Given the description of an element on the screen output the (x, y) to click on. 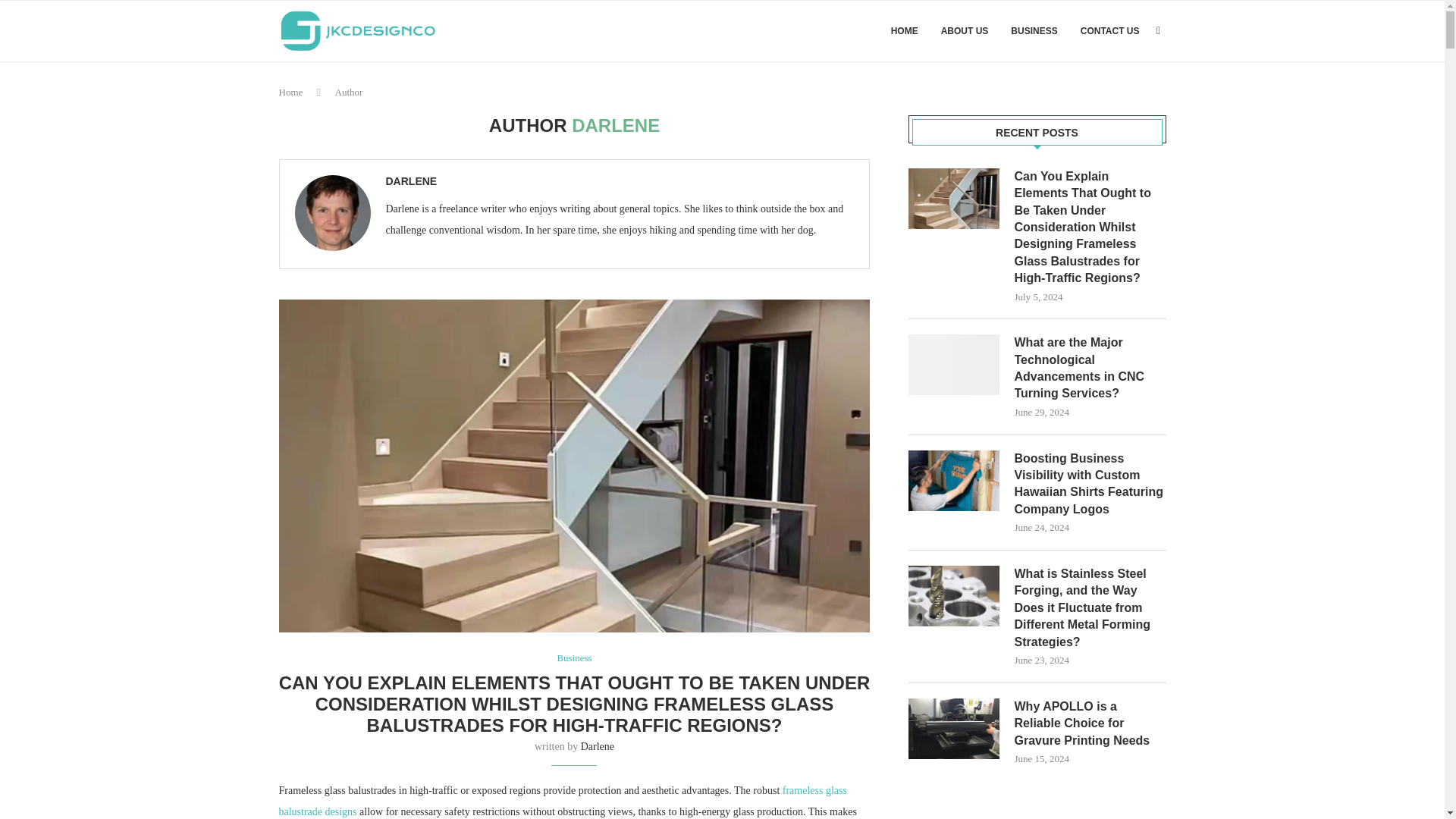
frameless glass balustrade designs (563, 800)
Darlene (597, 746)
Business (573, 657)
Home (290, 91)
DARLENE (410, 181)
CONTACT US (1110, 30)
Author Darlene (410, 181)
